Given the description of an element on the screen output the (x, y) to click on. 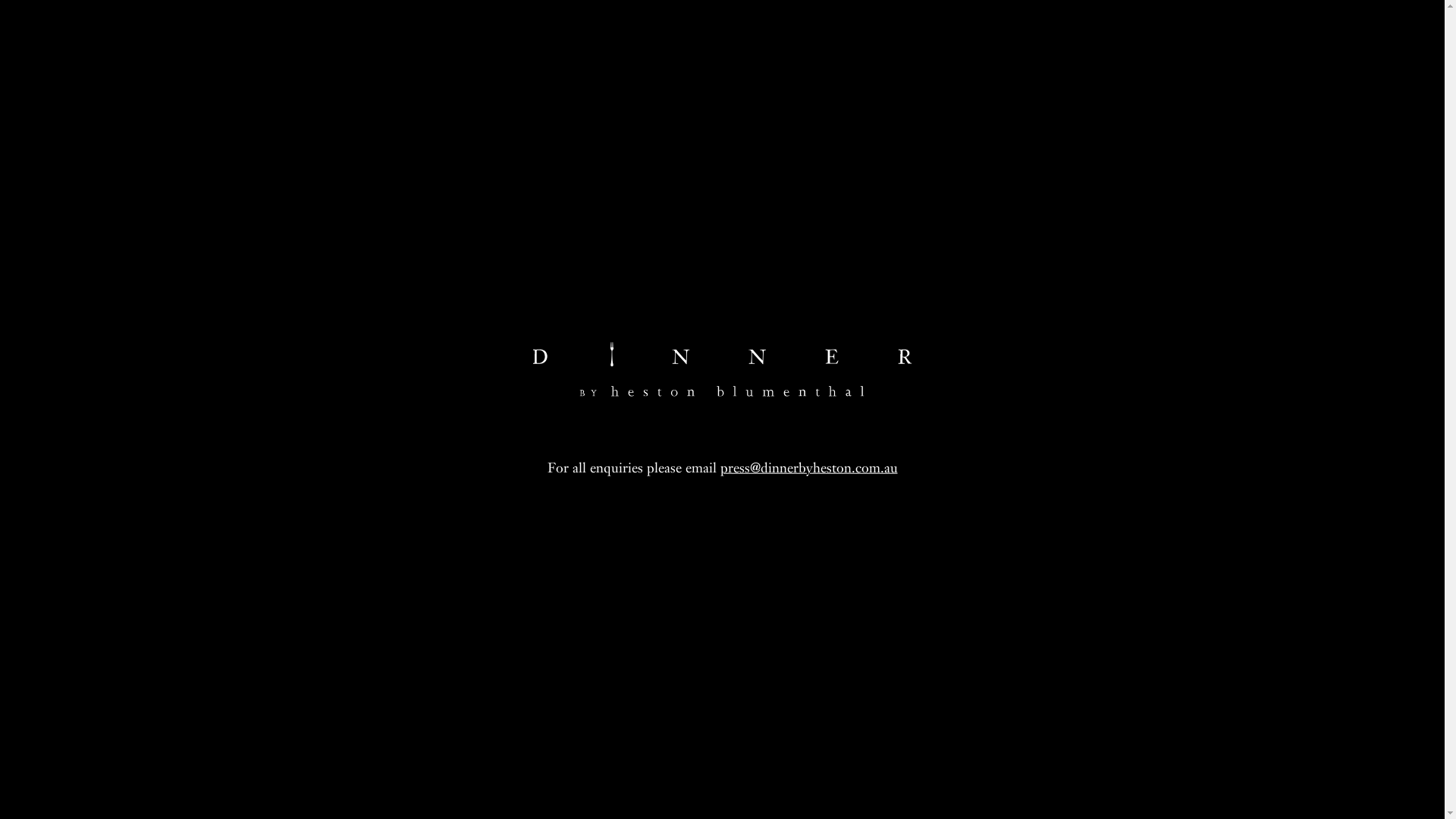
press@dinnerbyheston.com.au Element type: text (808, 466)
